Given the description of an element on the screen output the (x, y) to click on. 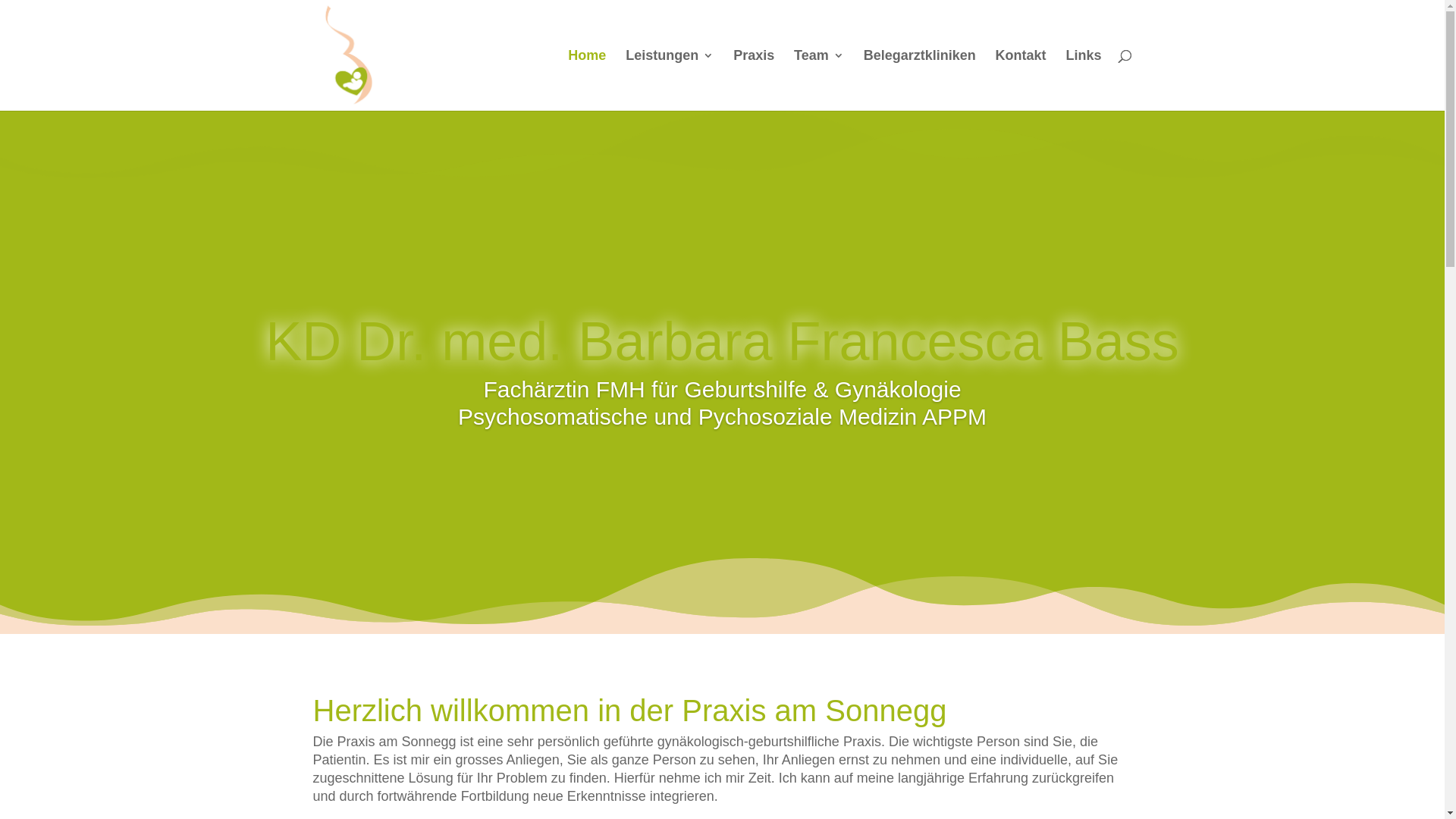
Belegarztkliniken Element type: text (919, 80)
Leistungen Element type: text (669, 80)
Home Element type: text (586, 80)
Kontakt Element type: text (1020, 80)
Links Element type: text (1083, 80)
Praxis Element type: text (753, 80)
Team Element type: text (818, 80)
